Given the description of an element on the screen output the (x, y) to click on. 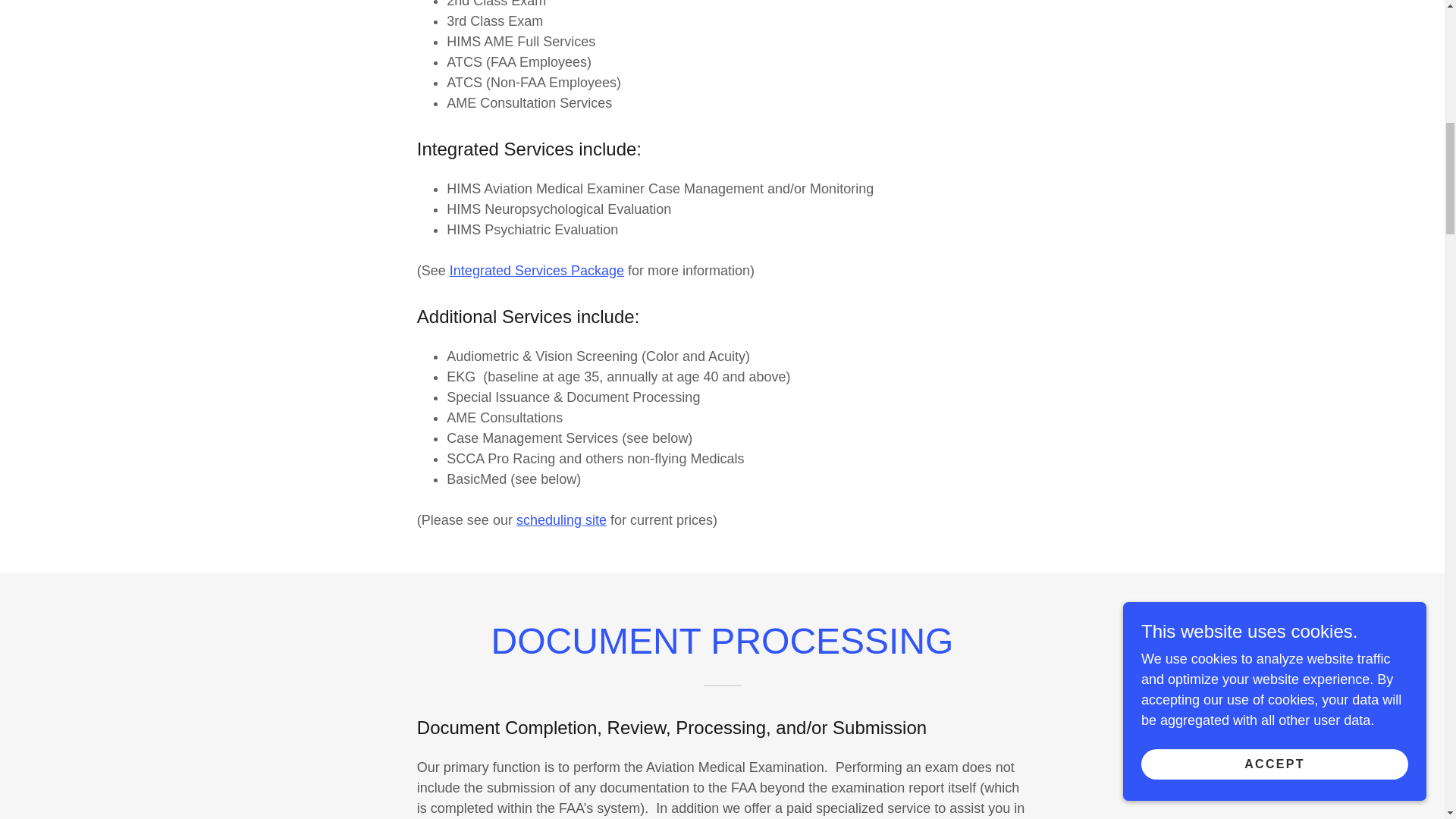
Integrated Services Package (536, 270)
